Given the description of an element on the screen output the (x, y) to click on. 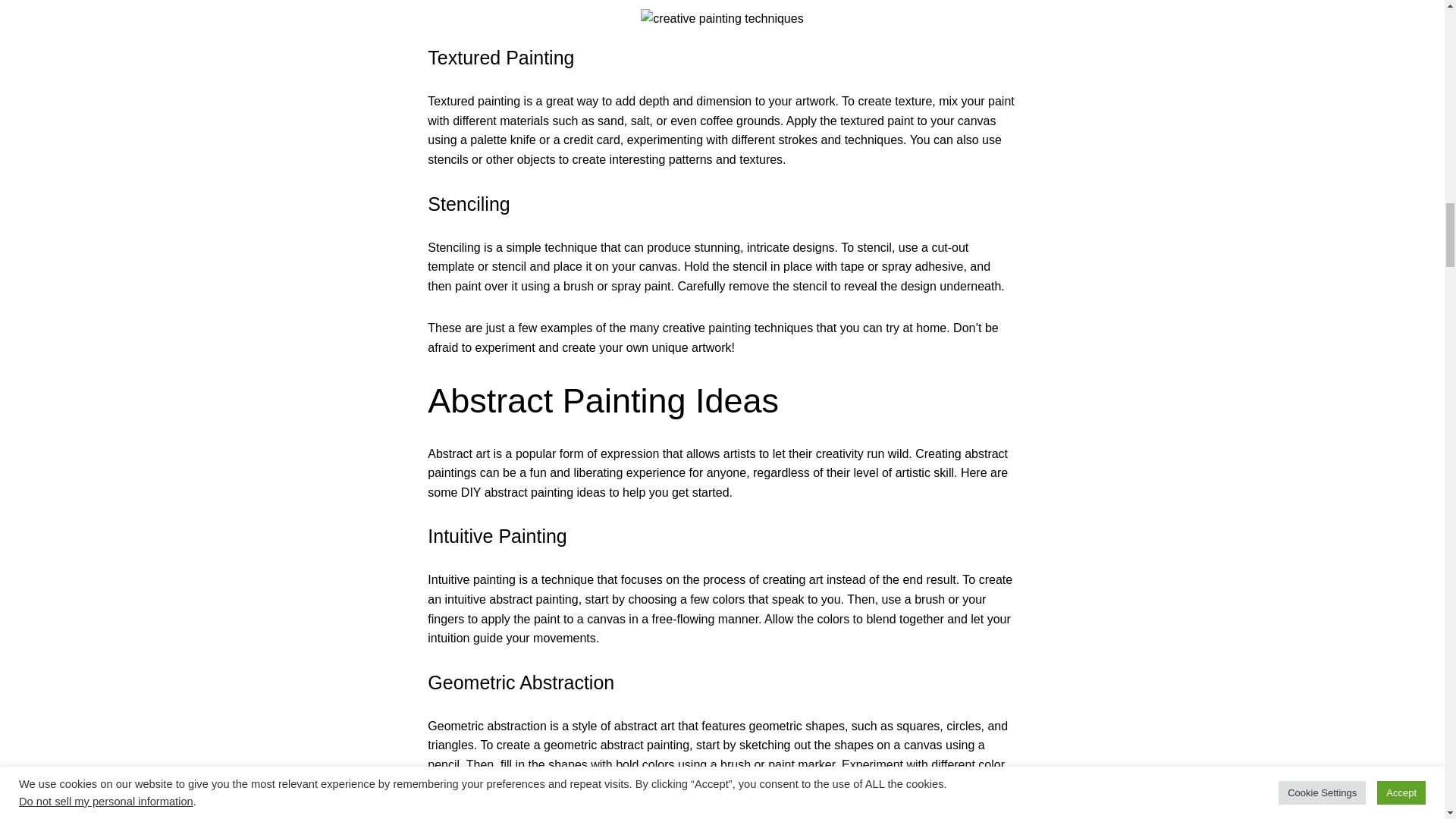
creative painting techniques (721, 18)
